Given the description of an element on the screen output the (x, y) to click on. 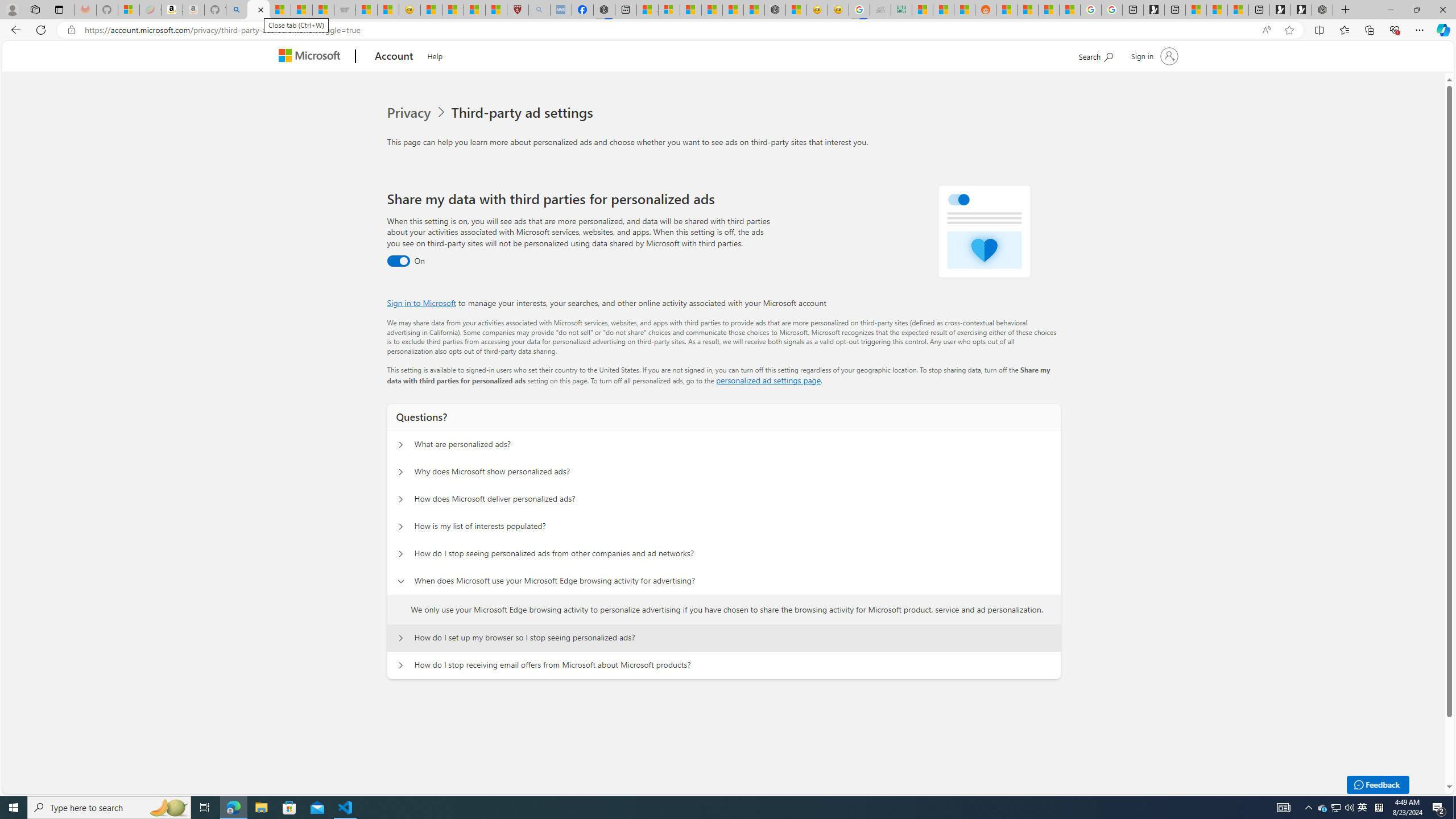
Robert H. Shmerling, MD - Harvard Health (517, 9)
Combat Siege (345, 9)
Third party data sharing toggle (398, 260)
